Given the description of an element on the screen output the (x, y) to click on. 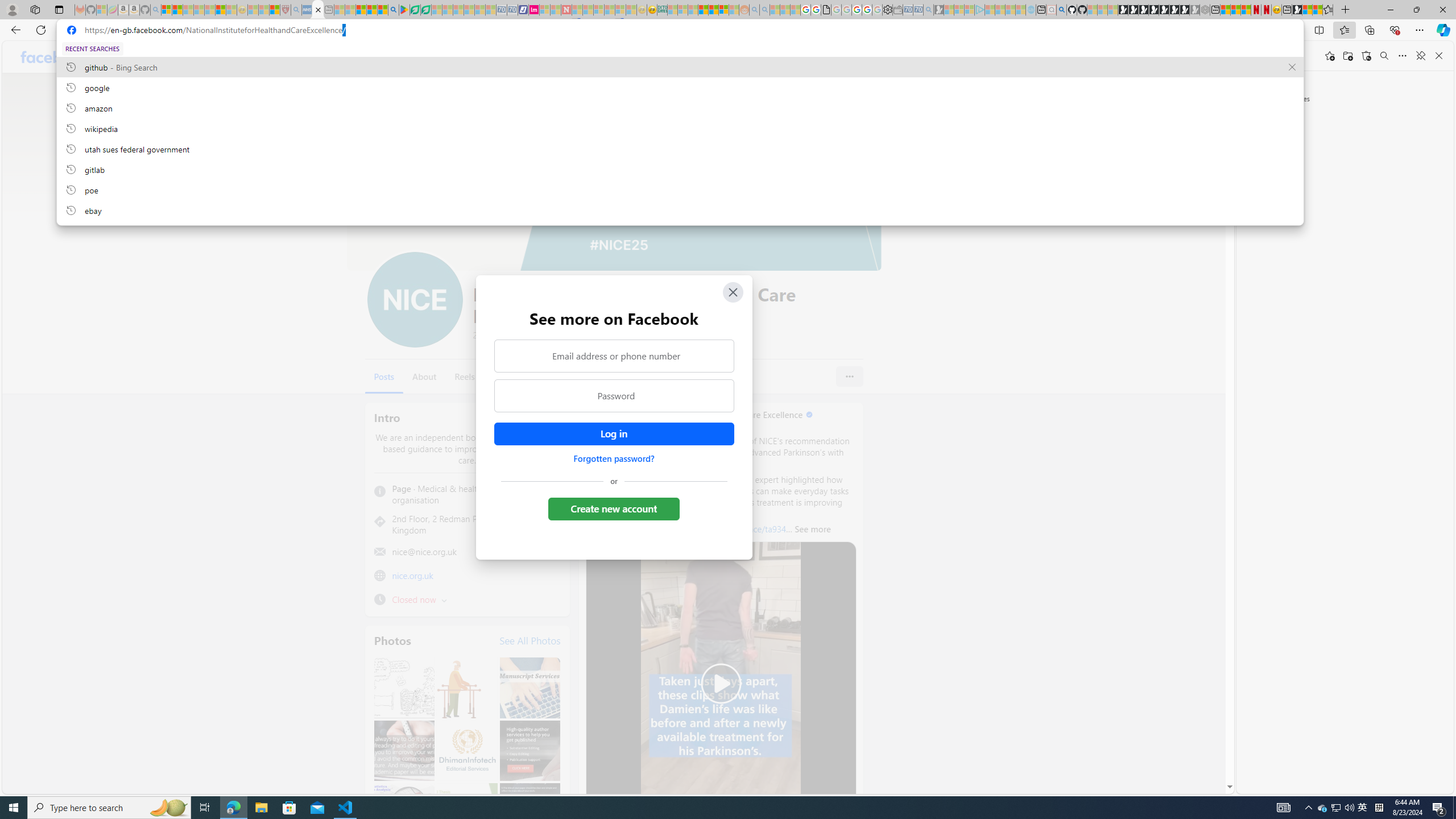
Local - MSN (274, 9)
Cheap Car Rentals - Save70.com - Sleeping (918, 9)
Password (613, 395)
Search favorites (1383, 55)
amazon, recent searches from history (679, 107)
